Given the description of an element on the screen output the (x, y) to click on. 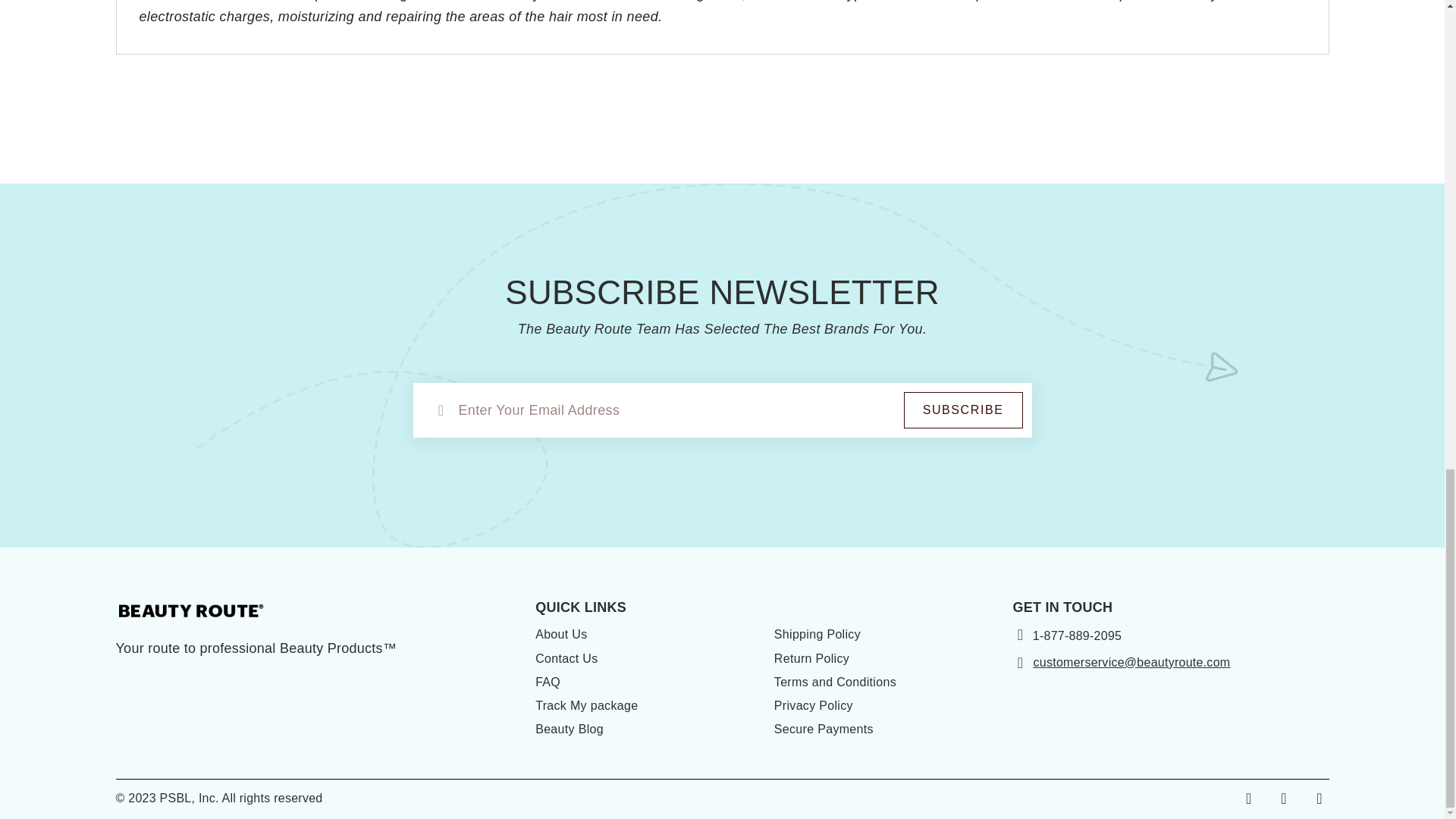
Subscribe Now (963, 410)
SUBSCRIBE (963, 410)
Shipping Policy (817, 634)
Contact Us (565, 658)
Track My package (586, 705)
About Us (560, 634)
Beauty Blog (569, 728)
FAQ (547, 681)
